Given the description of an element on the screen output the (x, y) to click on. 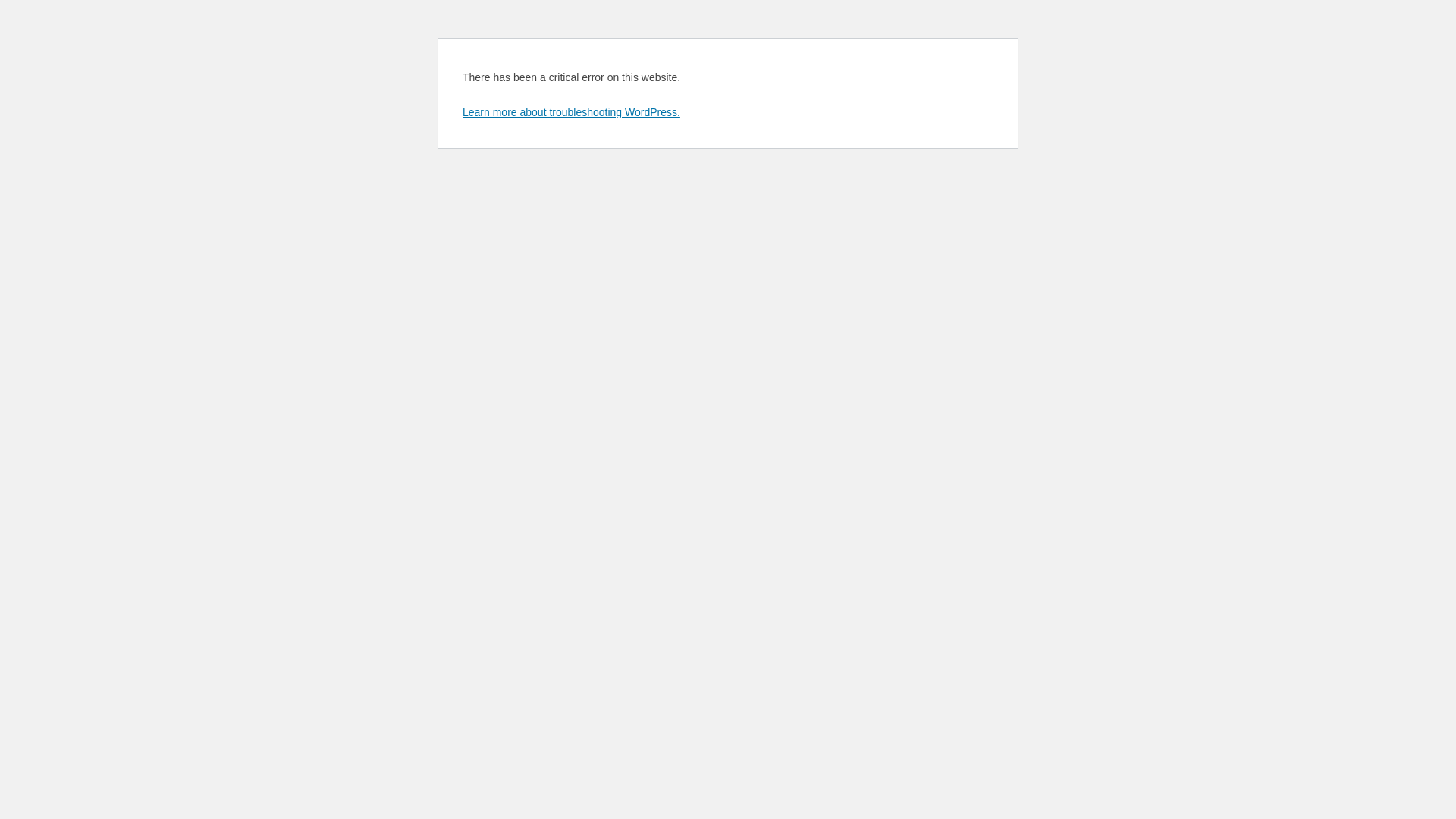
Learn more about troubleshooting WordPress. Element type: text (571, 112)
